Given the description of an element on the screen output the (x, y) to click on. 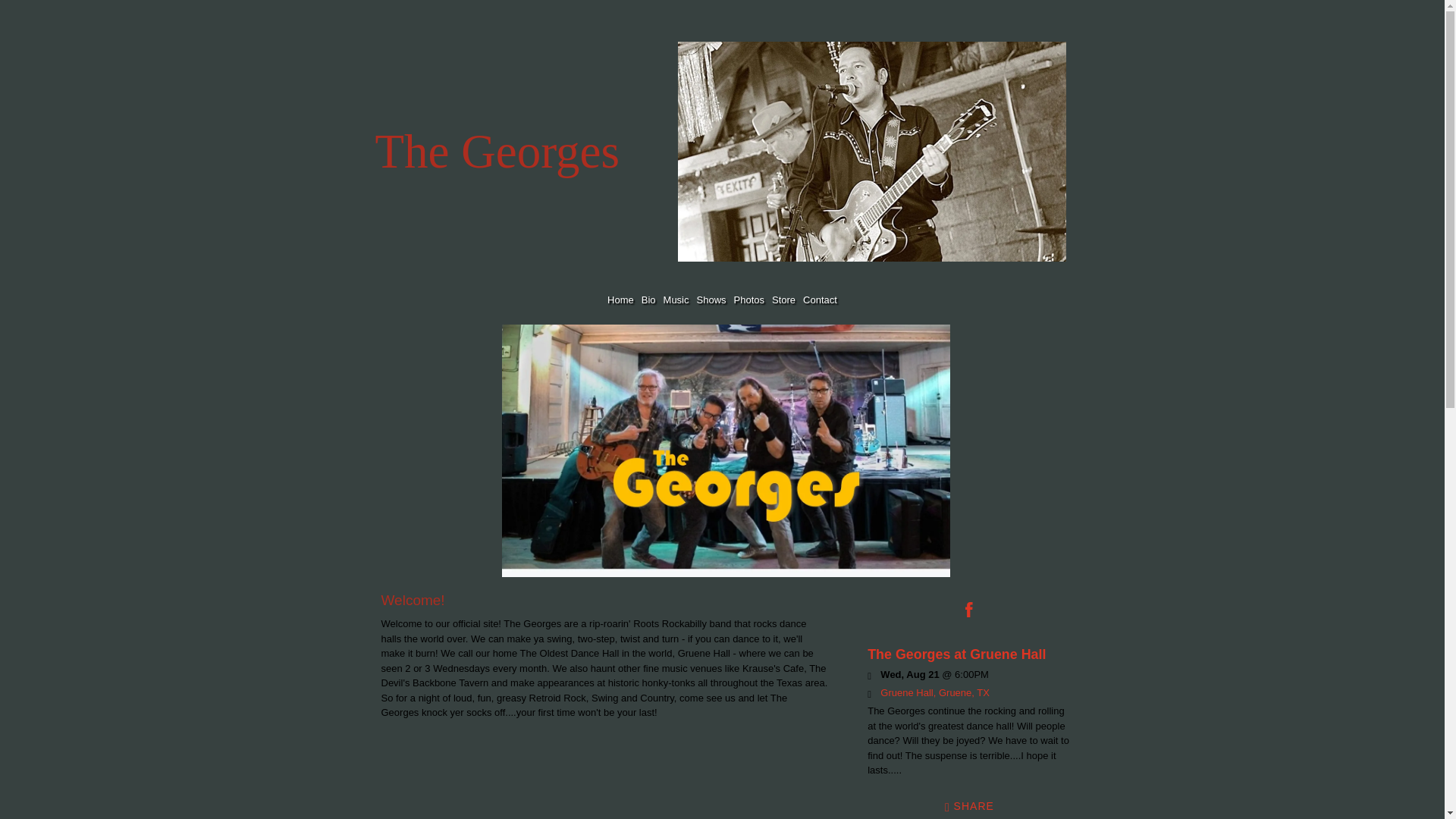
SHARE (968, 805)
Gruene Hall, Gruene, TX (935, 692)
Shows (711, 299)
Home (620, 299)
The Georges at Gruene Hall (956, 653)
Contact (820, 299)
Music (675, 299)
Photos (748, 299)
View on Google Maps (935, 692)
The Georges (532, 161)
